Given the description of an element on the screen output the (x, y) to click on. 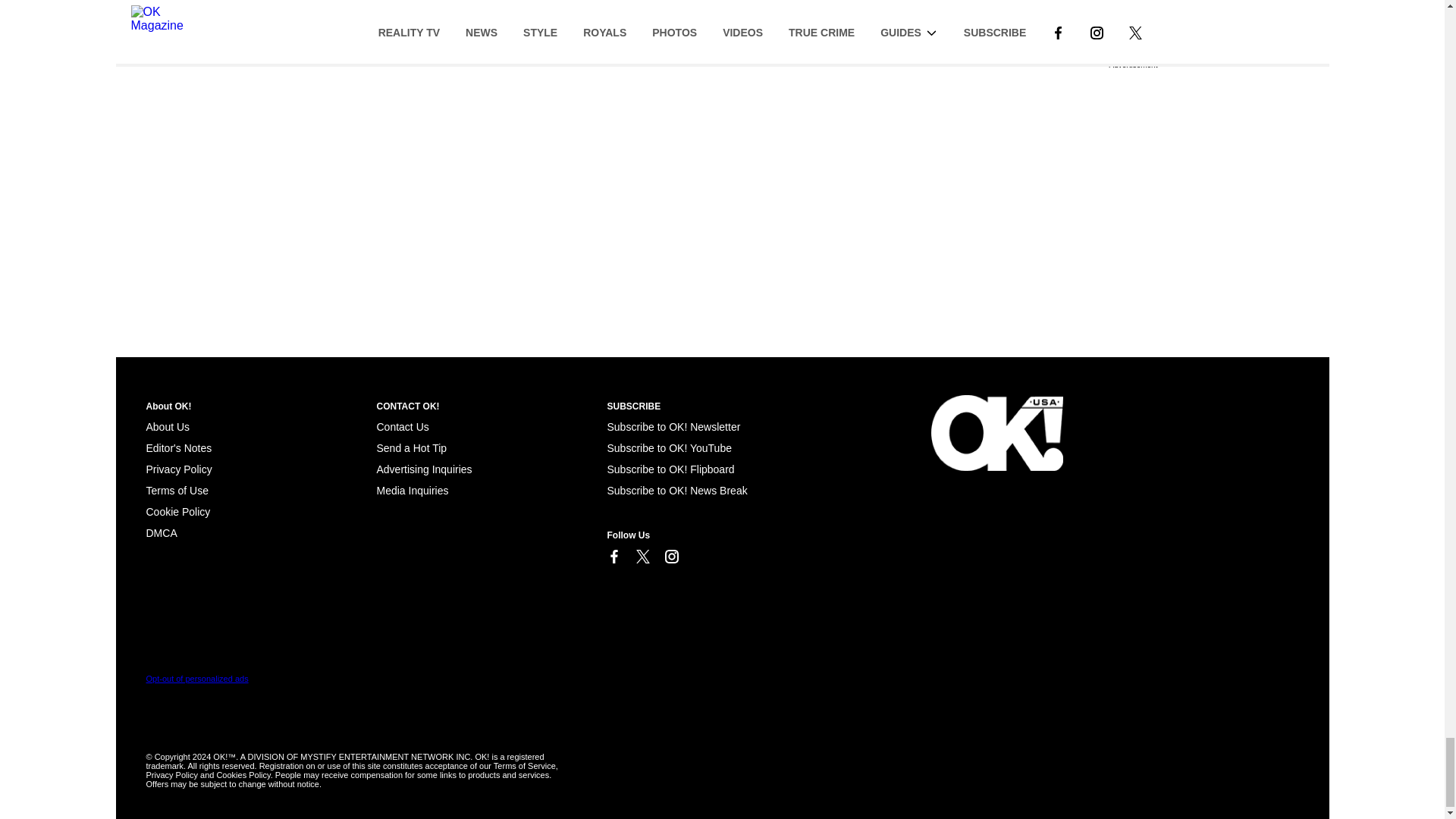
Editor's Notes (178, 448)
Send a Hot Tip (410, 448)
Link to Facebook (613, 556)
Contact Us (401, 426)
Cookie Policy (177, 511)
About Us (167, 426)
Cookie Policy (160, 532)
Terms of Use (176, 490)
Privacy Policy (178, 469)
Link to X (641, 556)
